Given the description of an element on the screen output the (x, y) to click on. 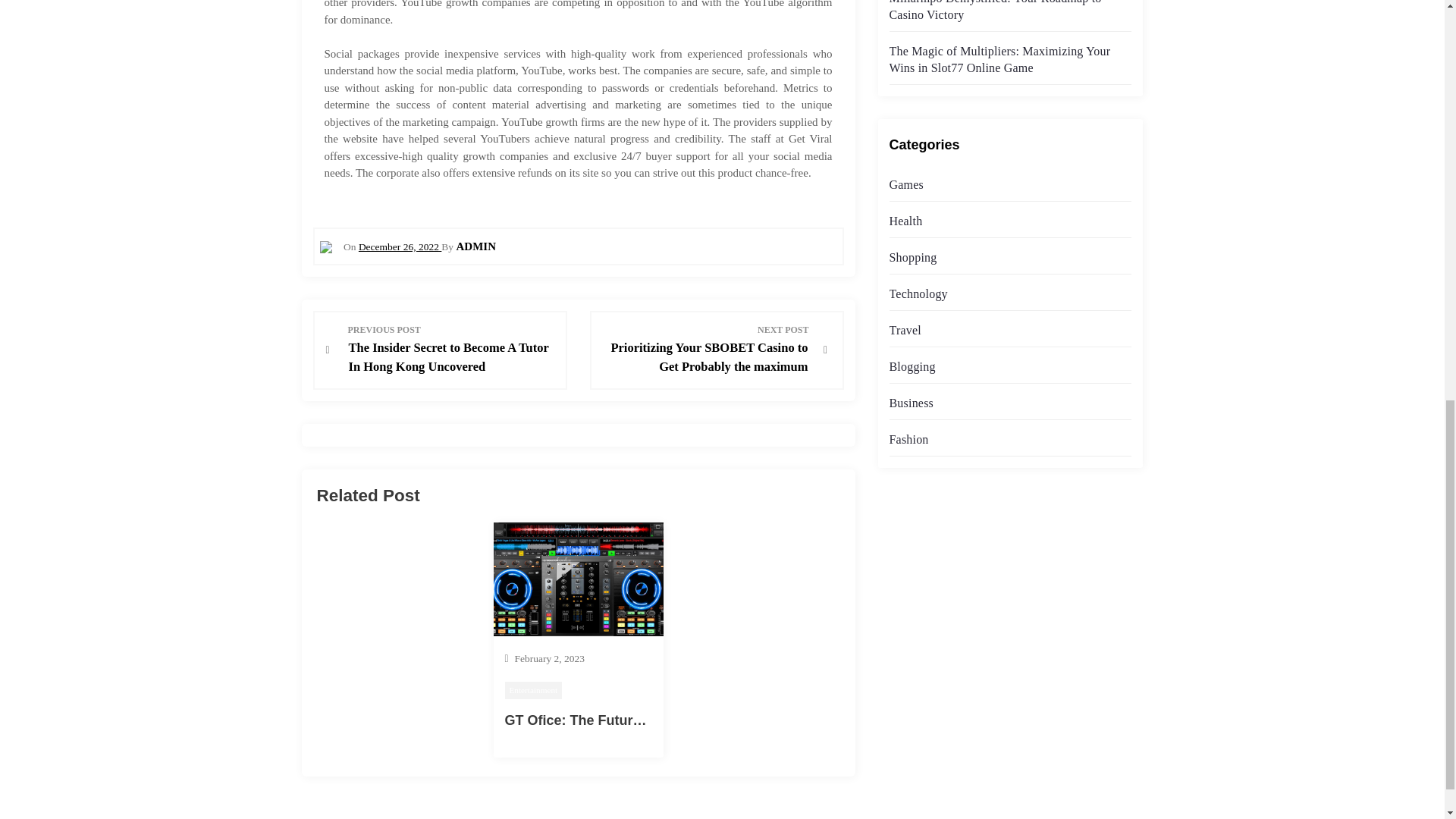
Miliarmpo Demystified: Your Roadmap to Casino Victory (994, 10)
ADMIN (475, 246)
December 26, 2022 (399, 246)
Games (905, 184)
Entertainment (533, 690)
Health (904, 220)
